Given the description of an element on the screen output the (x, y) to click on. 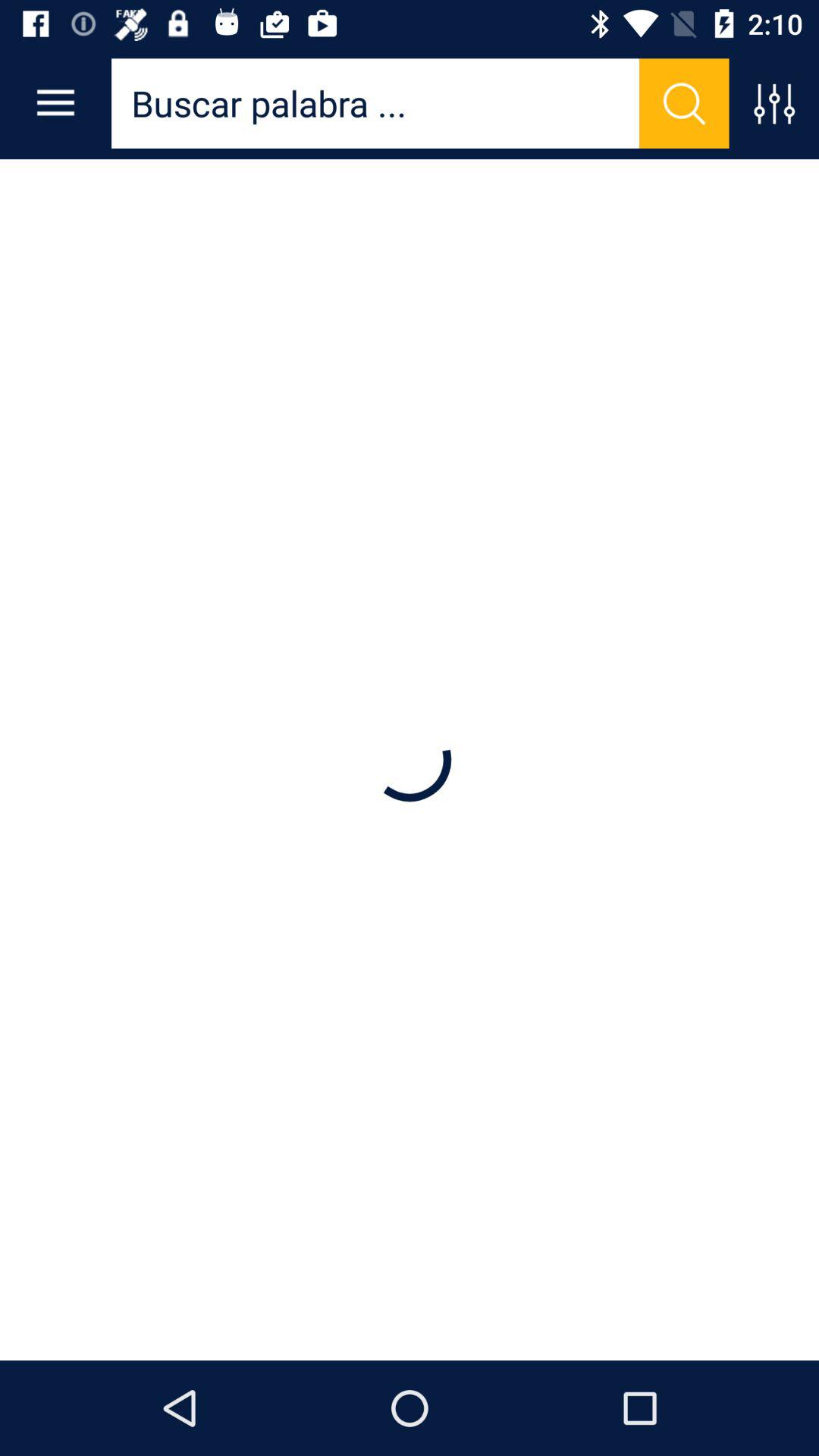
search your requirement (375, 103)
